Given the description of an element on the screen output the (x, y) to click on. 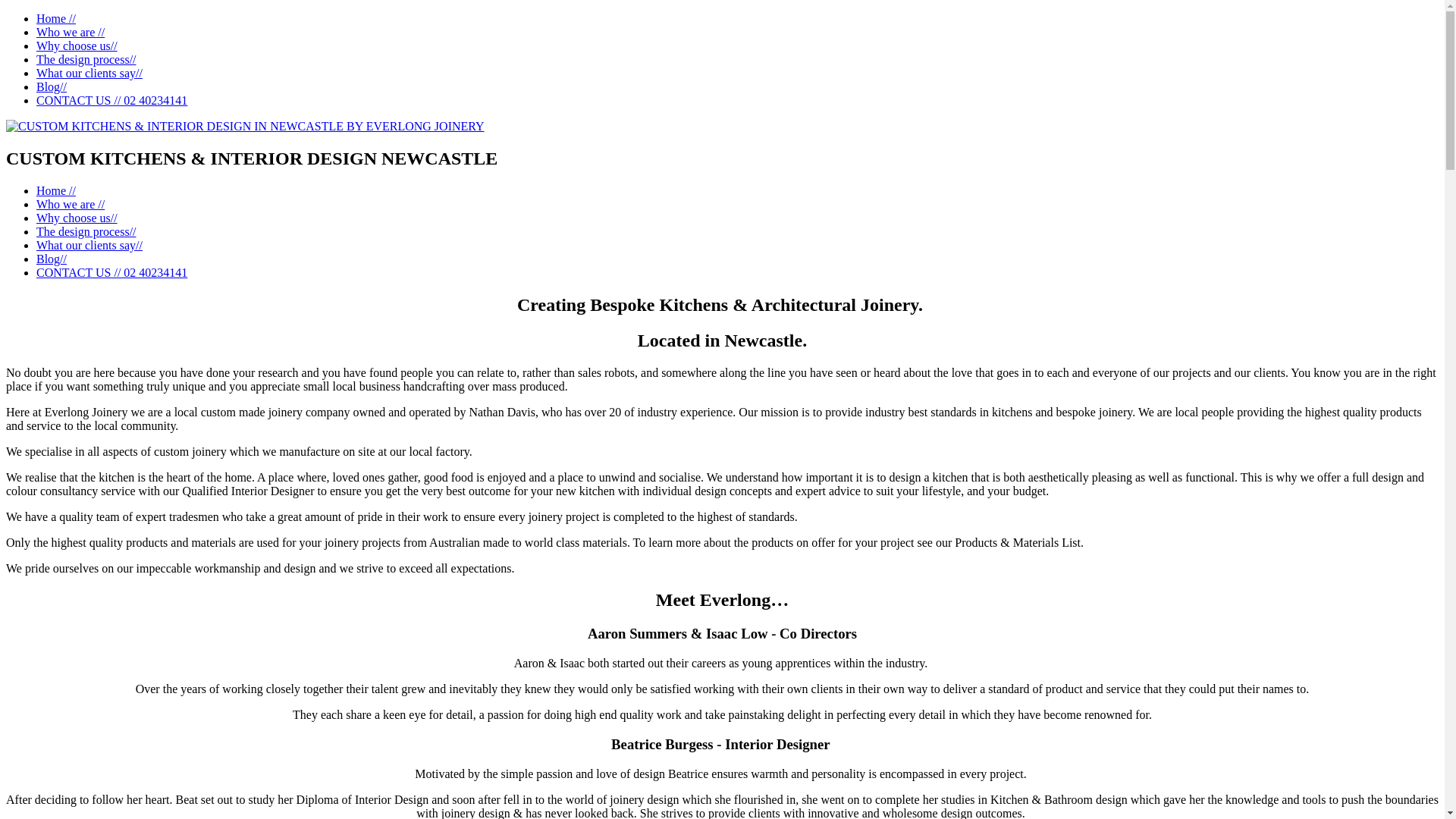
Why choose us// Element type: text (76, 45)
Why choose us// Element type: text (76, 217)
What our clients say// Element type: text (89, 244)
Blog// Element type: text (51, 86)
Home // Element type: text (55, 190)
Who we are // Element type: text (70, 31)
What our clients say// Element type: text (89, 72)
The design process// Element type: text (86, 231)
Blog// Element type: text (51, 258)
Who we are // Element type: text (70, 203)
CONTACT US // 02 40234141 Element type: text (111, 100)
Home // Element type: text (55, 18)
The design process// Element type: text (86, 59)
CONTACT US // 02 40234141 Element type: text (111, 272)
